Given the description of an element on the screen output the (x, y) to click on. 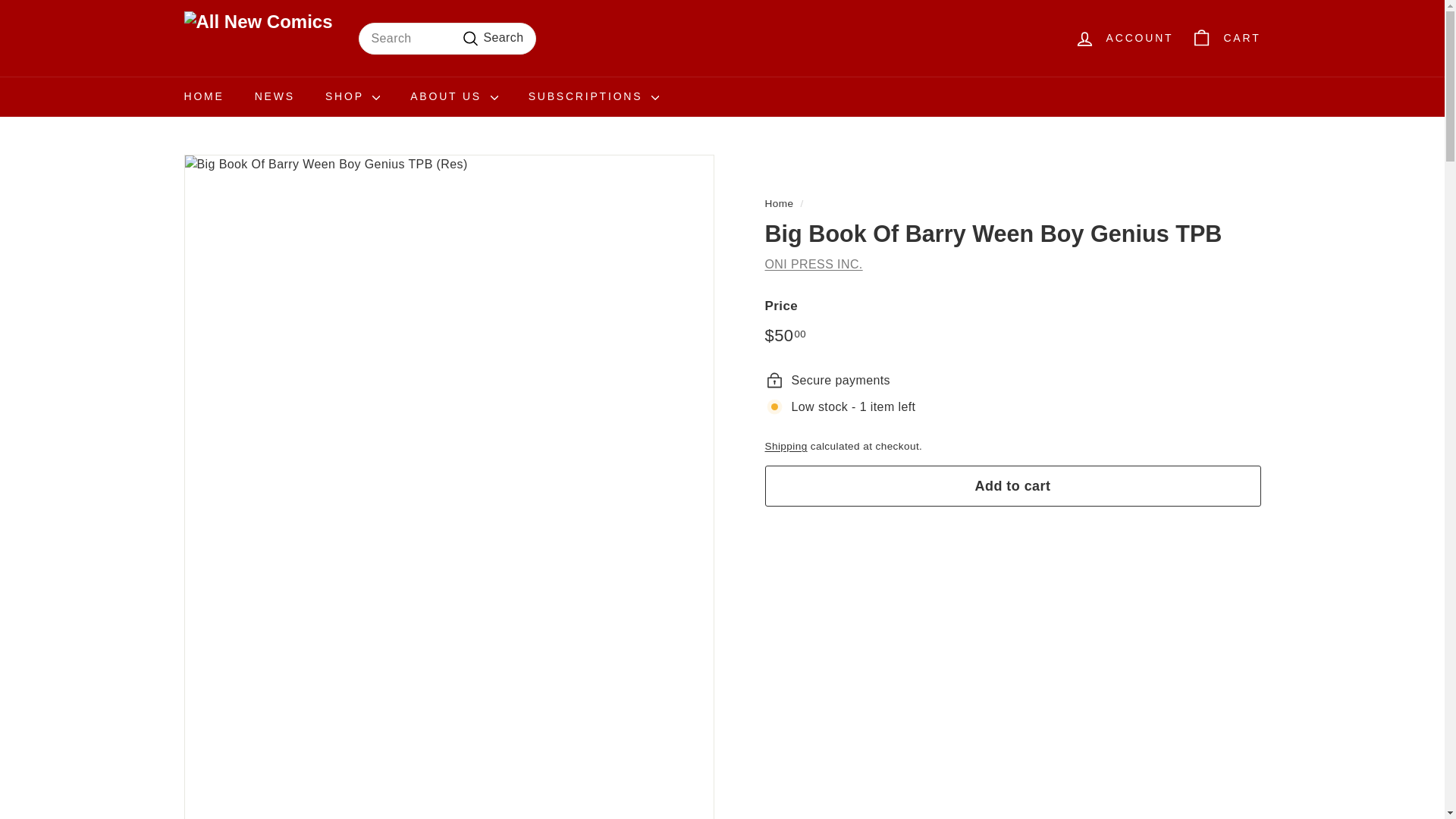
ONI PRESS INC. (812, 264)
Back to the frontpage (778, 203)
NEWS (275, 96)
HOME (203, 96)
ACCOUNT (1123, 37)
CART (1225, 37)
